Given the description of an element on the screen output the (x, y) to click on. 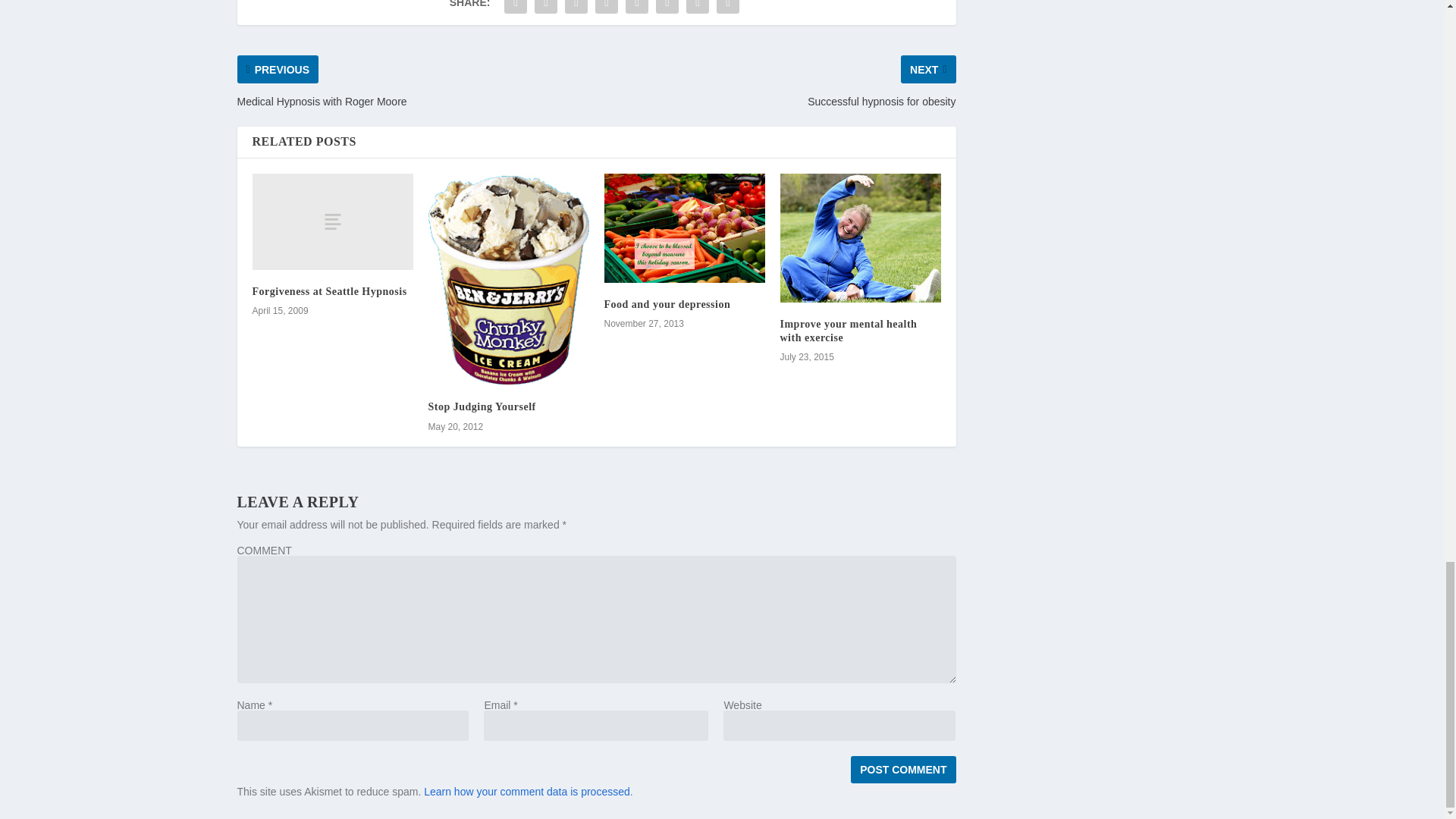
Post Comment (902, 768)
